Given the description of an element on the screen output the (x, y) to click on. 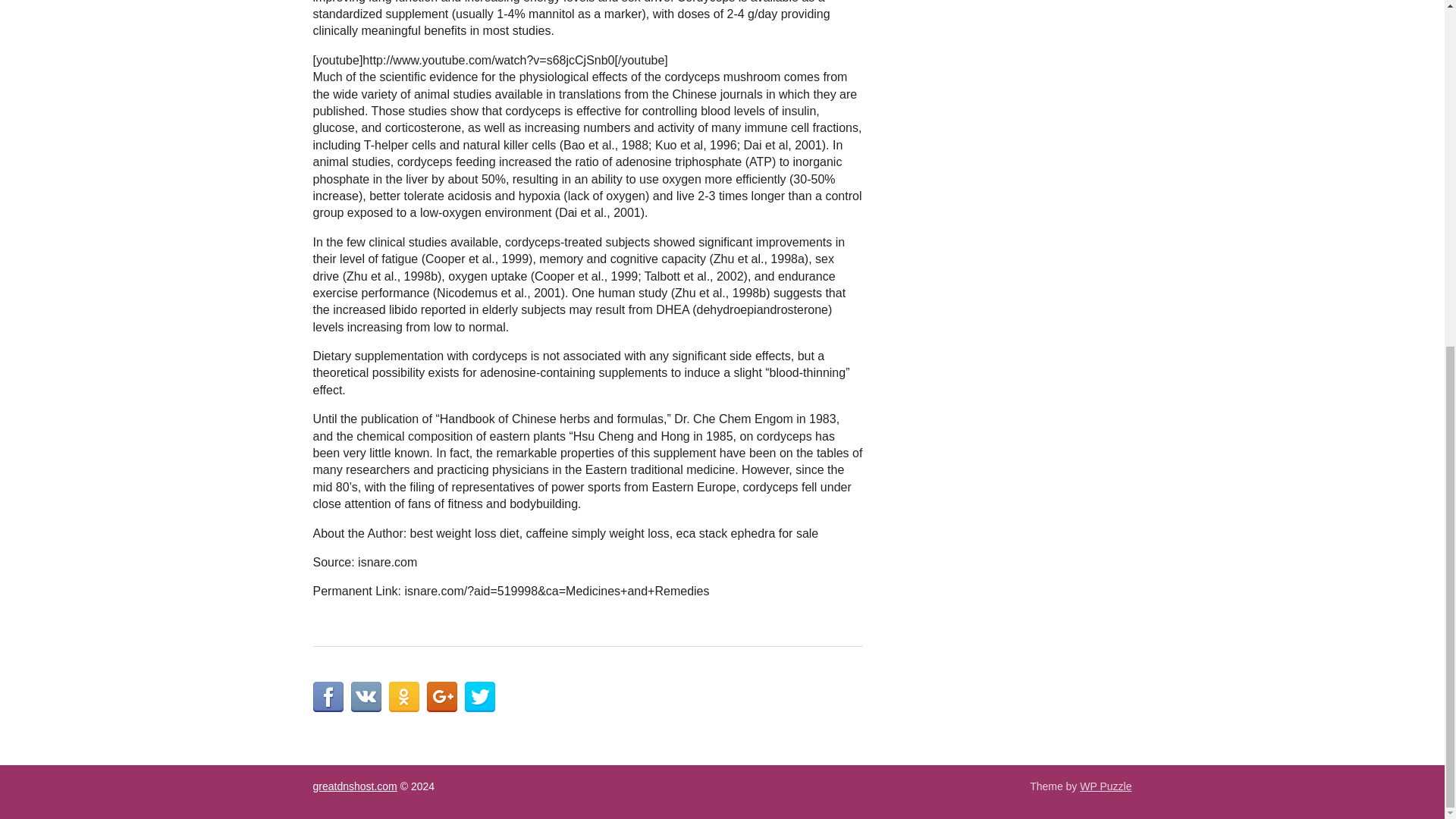
greatdnshost.com (354, 786)
Share in Facebook (327, 696)
Share in OK (403, 696)
Share in Twitter (479, 696)
Share in VK (365, 696)
WP Puzzle (1105, 786)
